Given the description of an element on the screen output the (x, y) to click on. 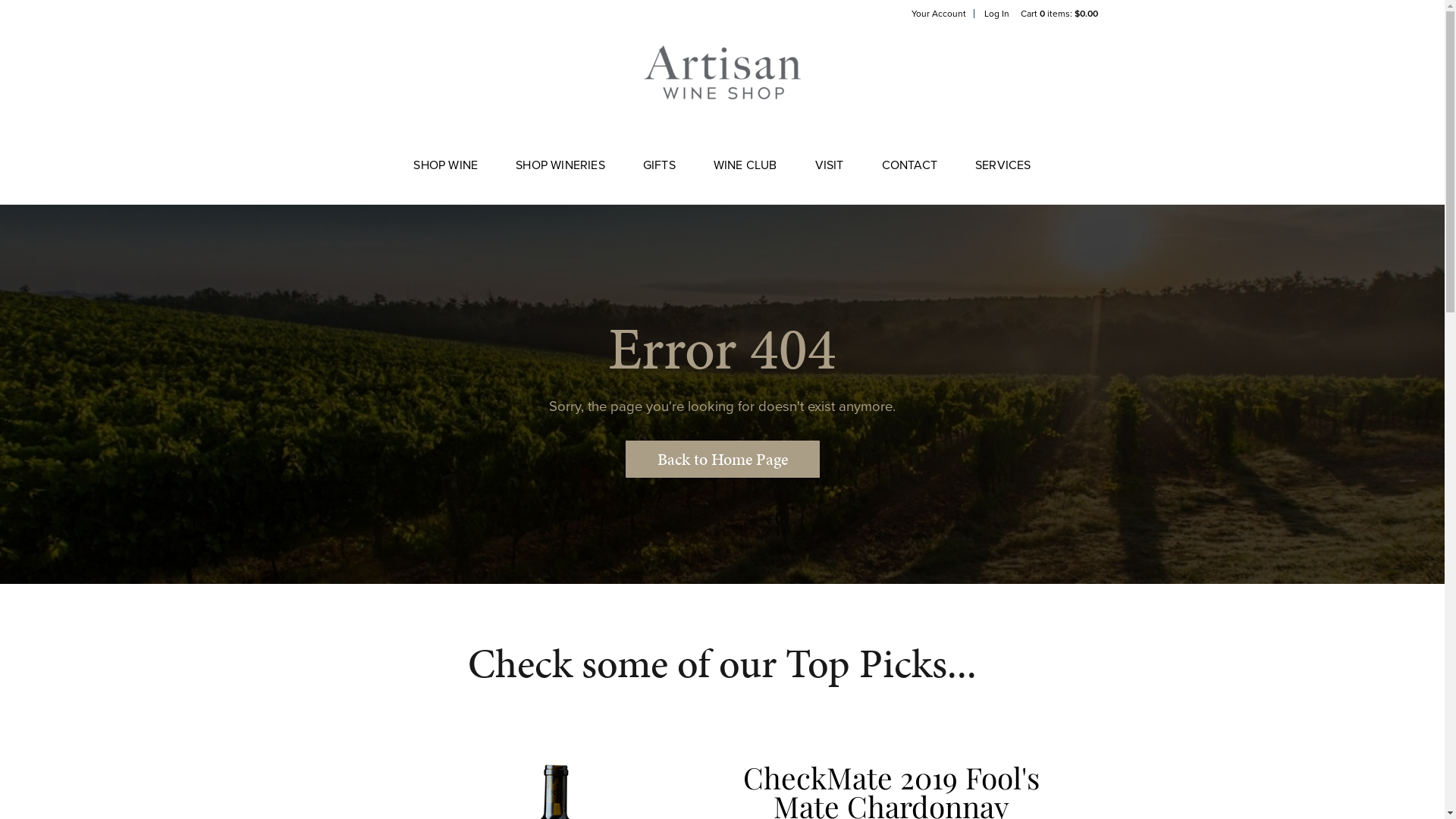
VISIT Element type: text (829, 173)
Log In Element type: text (996, 13)
SHOP WINERIES Element type: text (560, 173)
SERVICES Element type: text (1003, 173)
Back to Home Page Element type: text (721, 458)
Your Account Element type: text (938, 13)
WINE CLUB Element type: text (745, 173)
GIFTS Element type: text (659, 173)
Artisan Wine Shop Home Element type: text (721, 87)
CONTACT Element type: text (909, 173)
SHOP WINE Element type: text (445, 173)
Cart 0 items: $0.00 Element type: text (1059, 13)
